Given the description of an element on the screen output the (x, y) to click on. 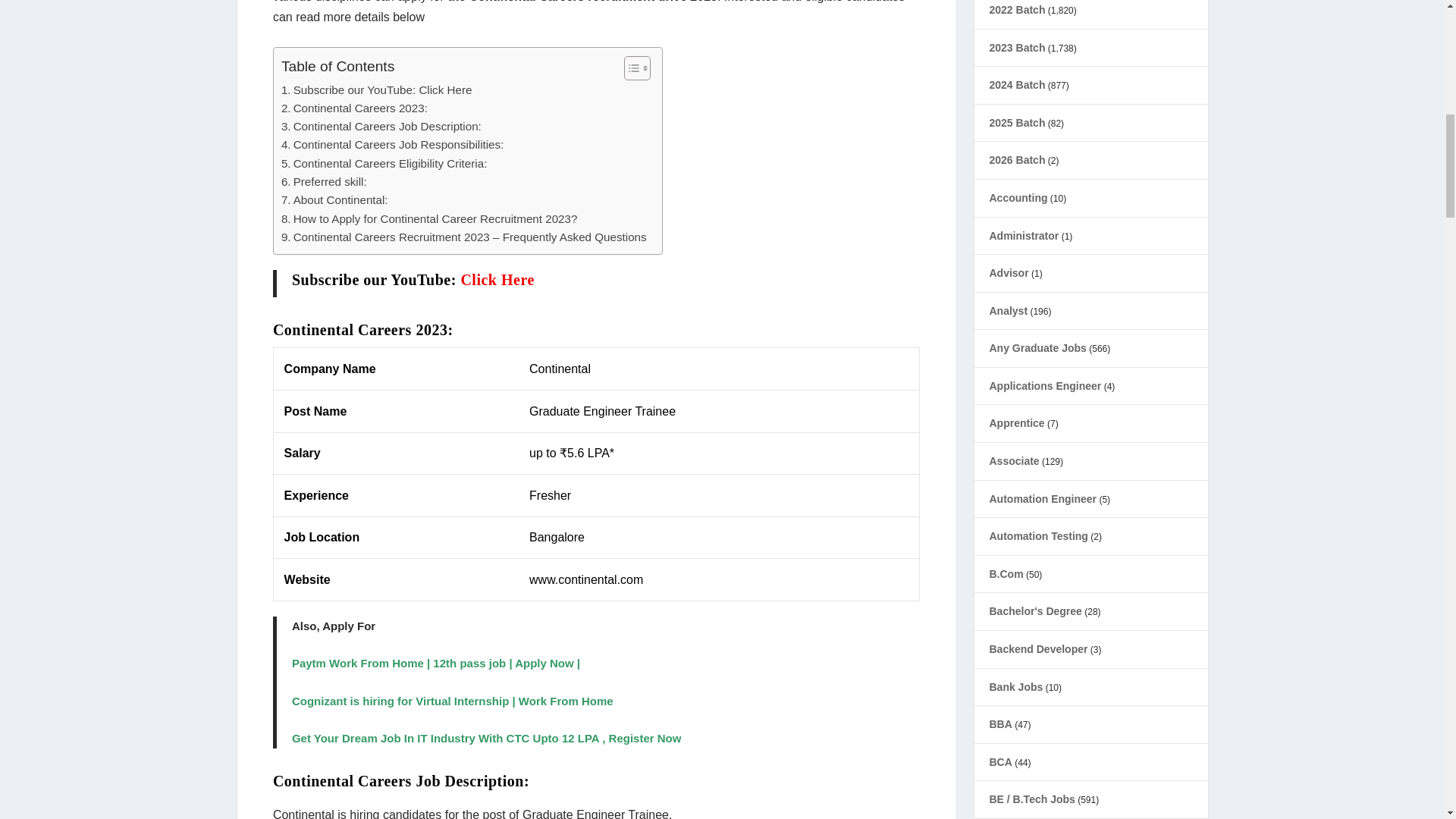
Continental Careers Job Responsibilities: (392, 144)
Preferred skill: (323, 181)
Continental Careers Job Description: (381, 126)
About Continental: (334, 199)
Continental Careers Eligibility Criteria: (383, 163)
Continental Careers 2023: (354, 108)
